Given the description of an element on the screen output the (x, y) to click on. 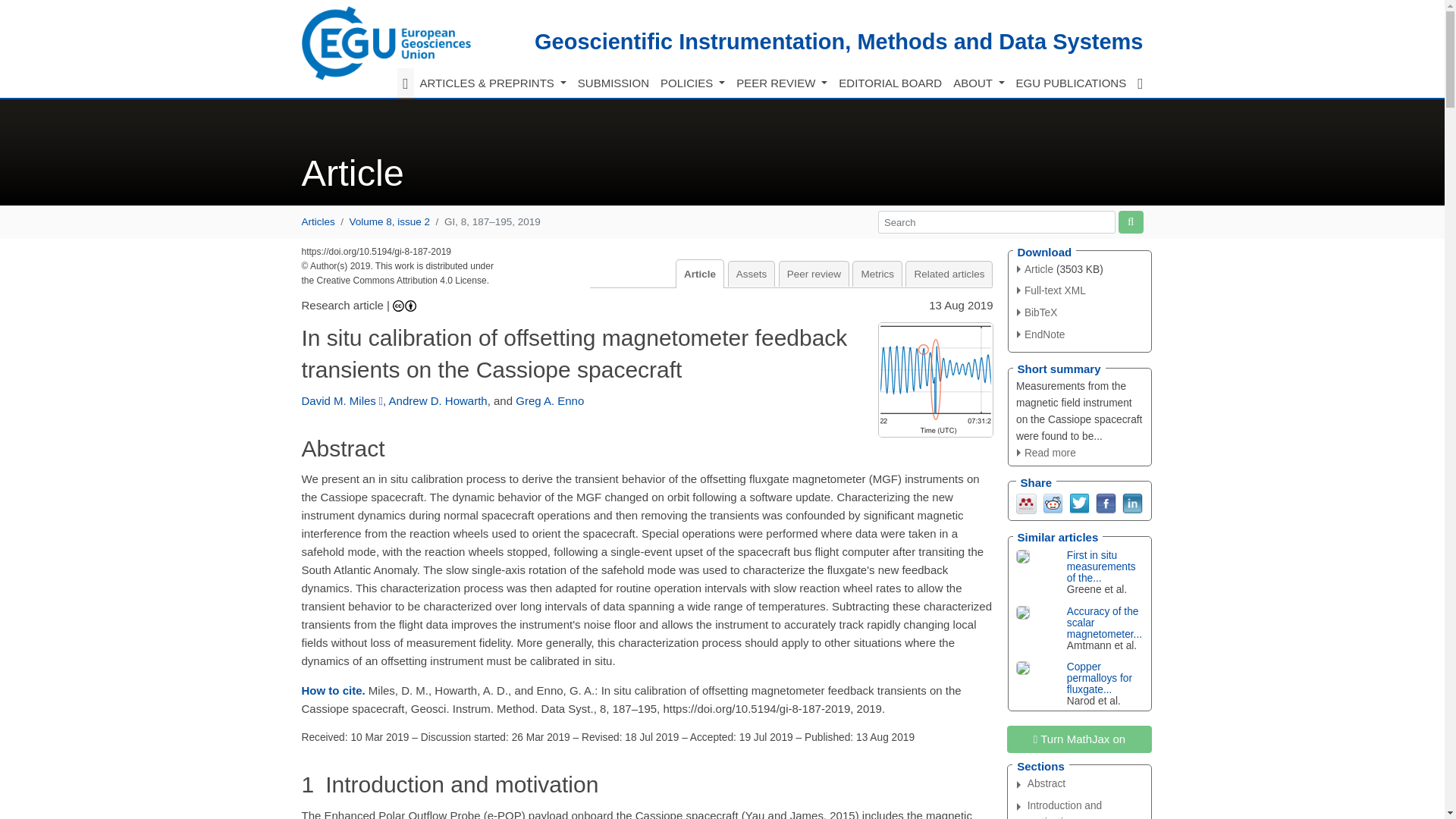
XML Version (1051, 290)
Facebook (1104, 502)
Mendeley (1026, 502)
Introduction and motivation (1083, 808)
Reddit (1052, 502)
ABOUT (978, 83)
Start site search (1130, 221)
Geoscientific Instrumentation, Methods and Data Systems (838, 41)
Abstract (1083, 783)
SUBMISSION (612, 83)
